Given the description of an element on the screen output the (x, y) to click on. 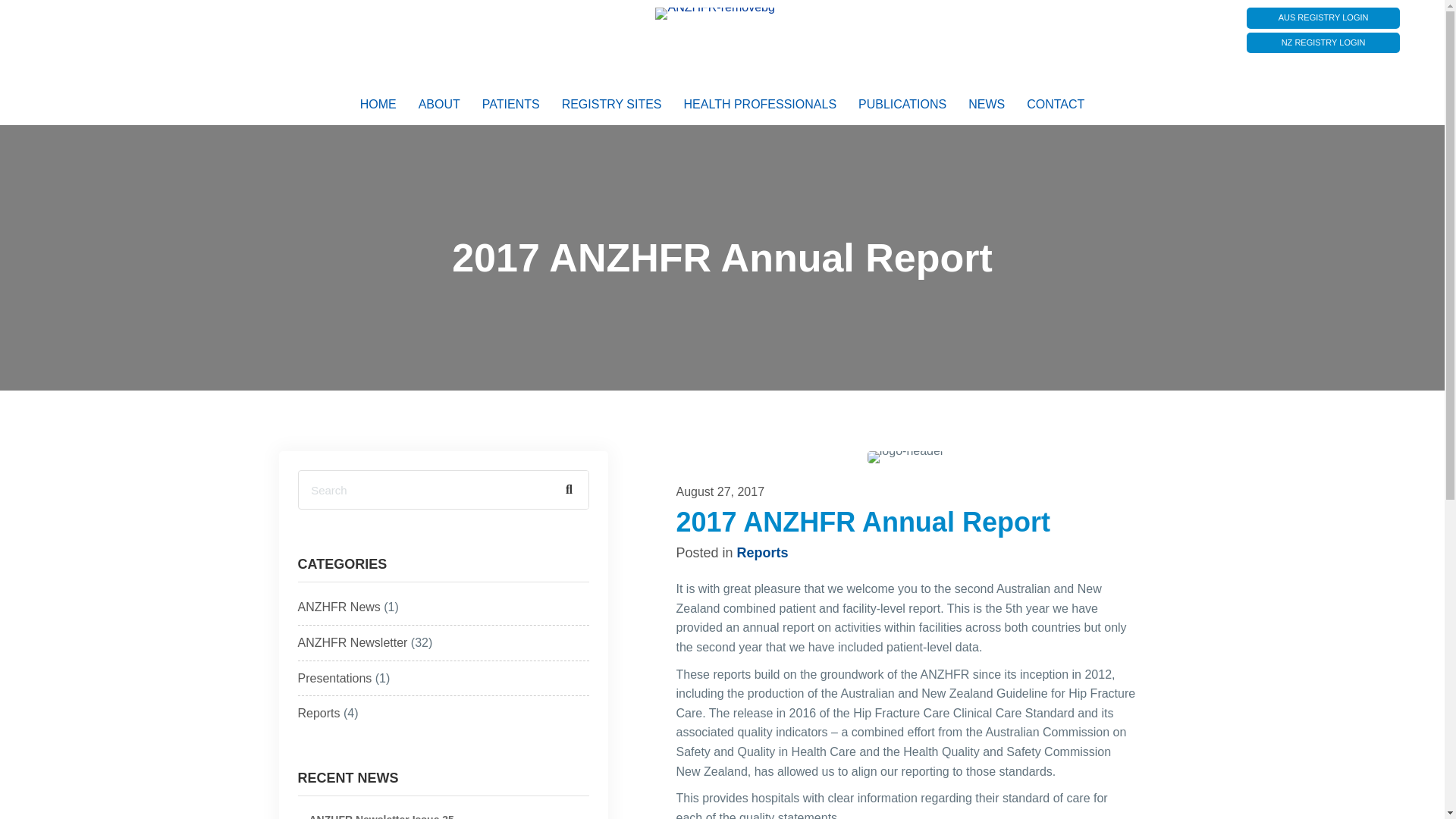
NEWS (986, 104)
ANZHFR-removebg (714, 13)
logo-header (905, 457)
Search (424, 489)
REGISTRY SITES (611, 104)
CONTACT (1055, 104)
NZ REGISTRY LOGIN (1322, 43)
HOME (378, 104)
AUS REGISTRY LOGIN (1322, 17)
ABOUT (438, 104)
